Given the description of an element on the screen output the (x, y) to click on. 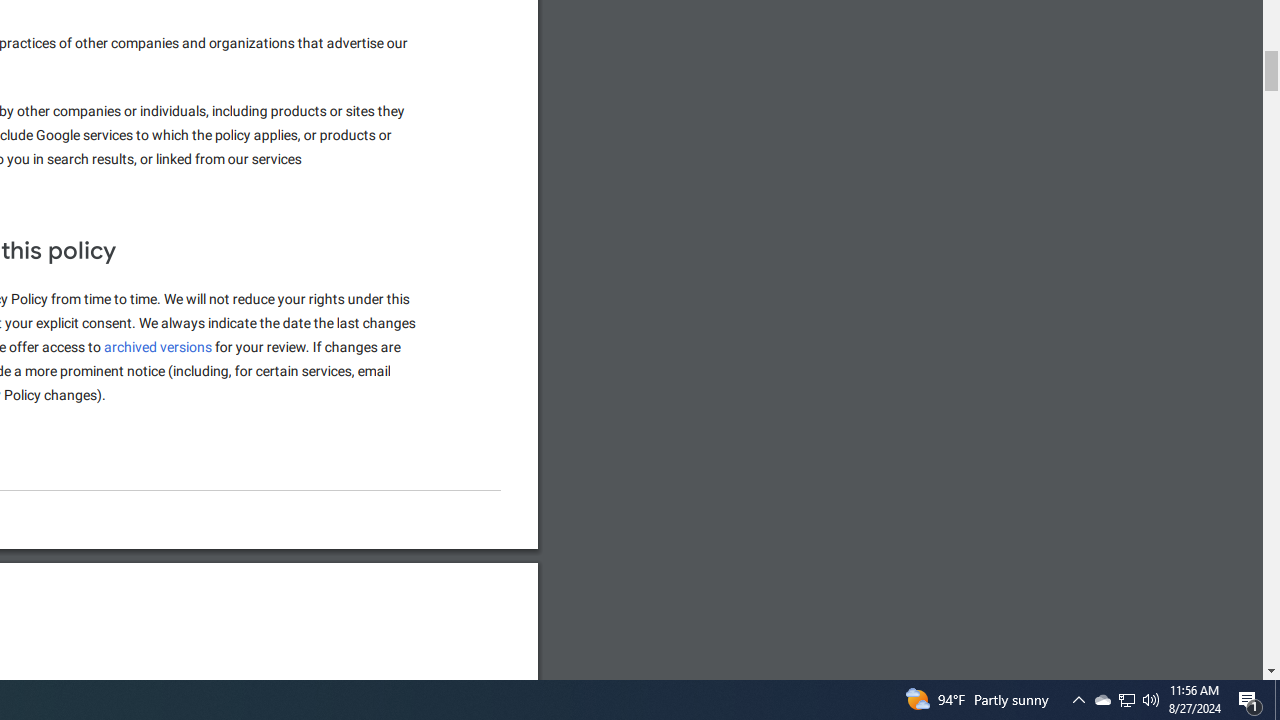
archived versions (157, 347)
